Given the description of an element on the screen output the (x, y) to click on. 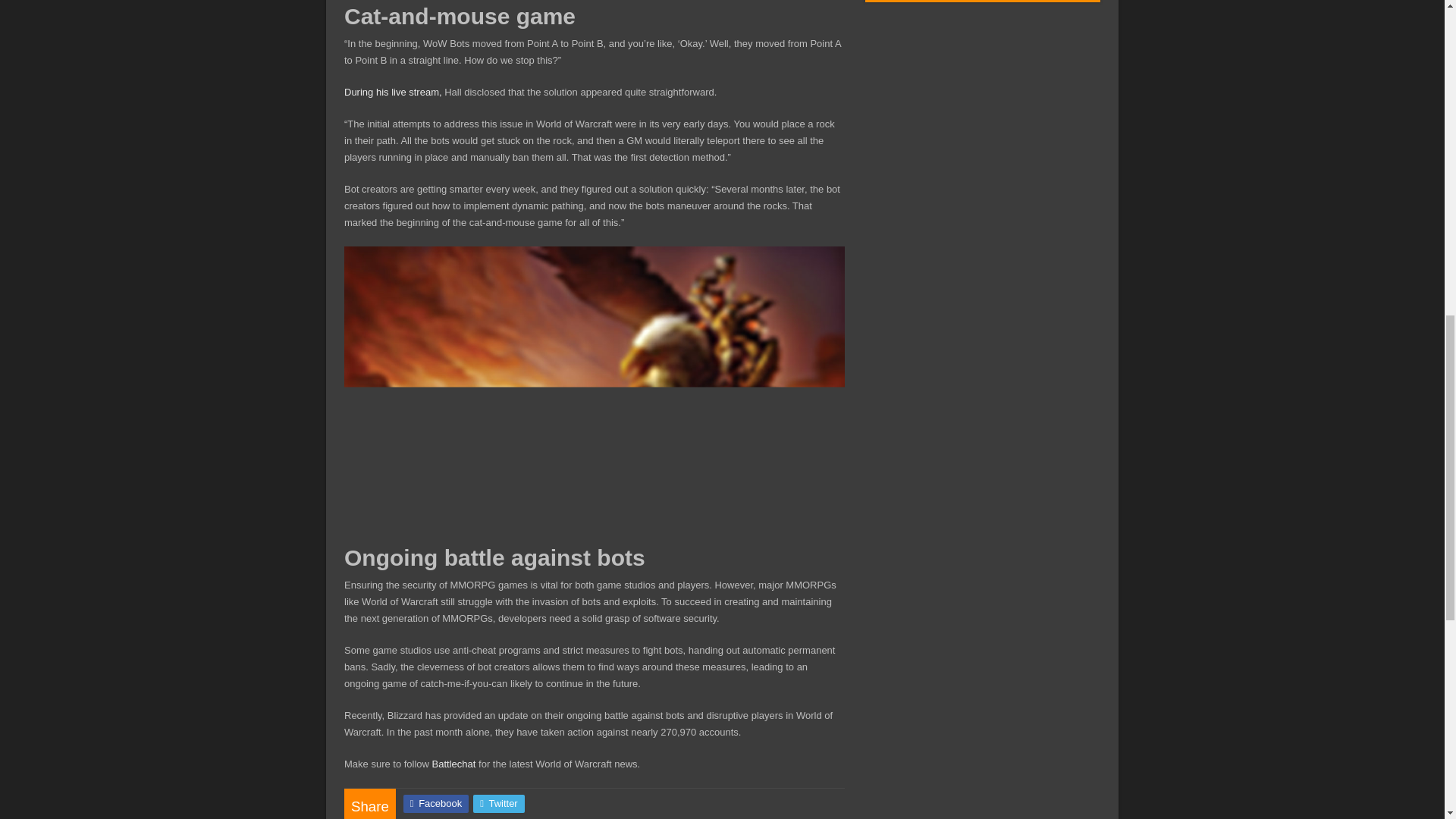
During his live stream, (392, 91)
Battlechat (454, 763)
Facebook (435, 803)
Scroll To Top (1421, 60)
Twitter (498, 803)
